Given the description of an element on the screen output the (x, y) to click on. 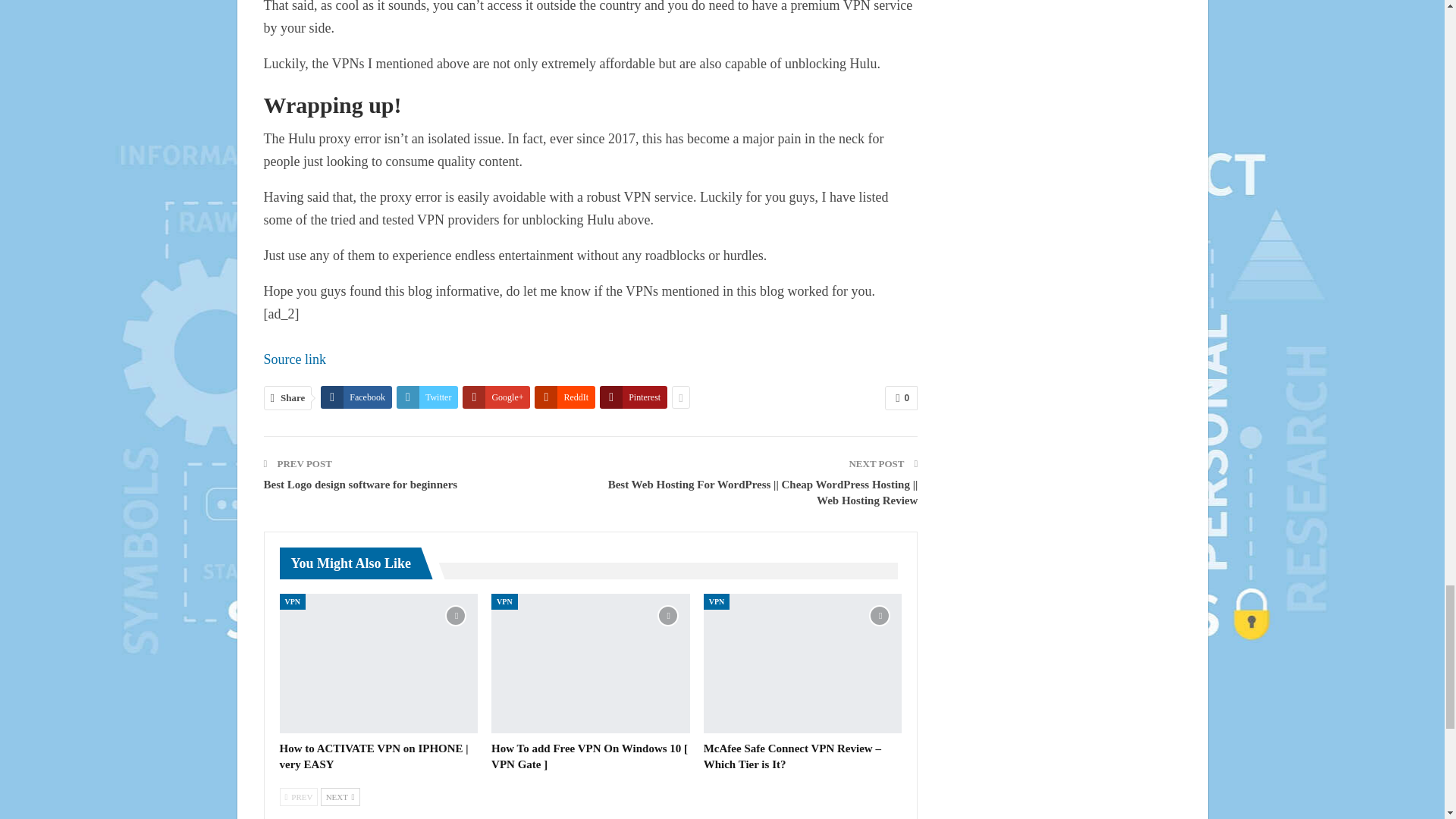
VPN (292, 601)
ReddIt (564, 396)
Facebook (355, 396)
Previous (298, 796)
Best Logo design software for beginners (360, 484)
Source link (294, 359)
Next (339, 796)
0 (901, 397)
Twitter (427, 396)
Pinterest (632, 396)
